Given the description of an element on the screen output the (x, y) to click on. 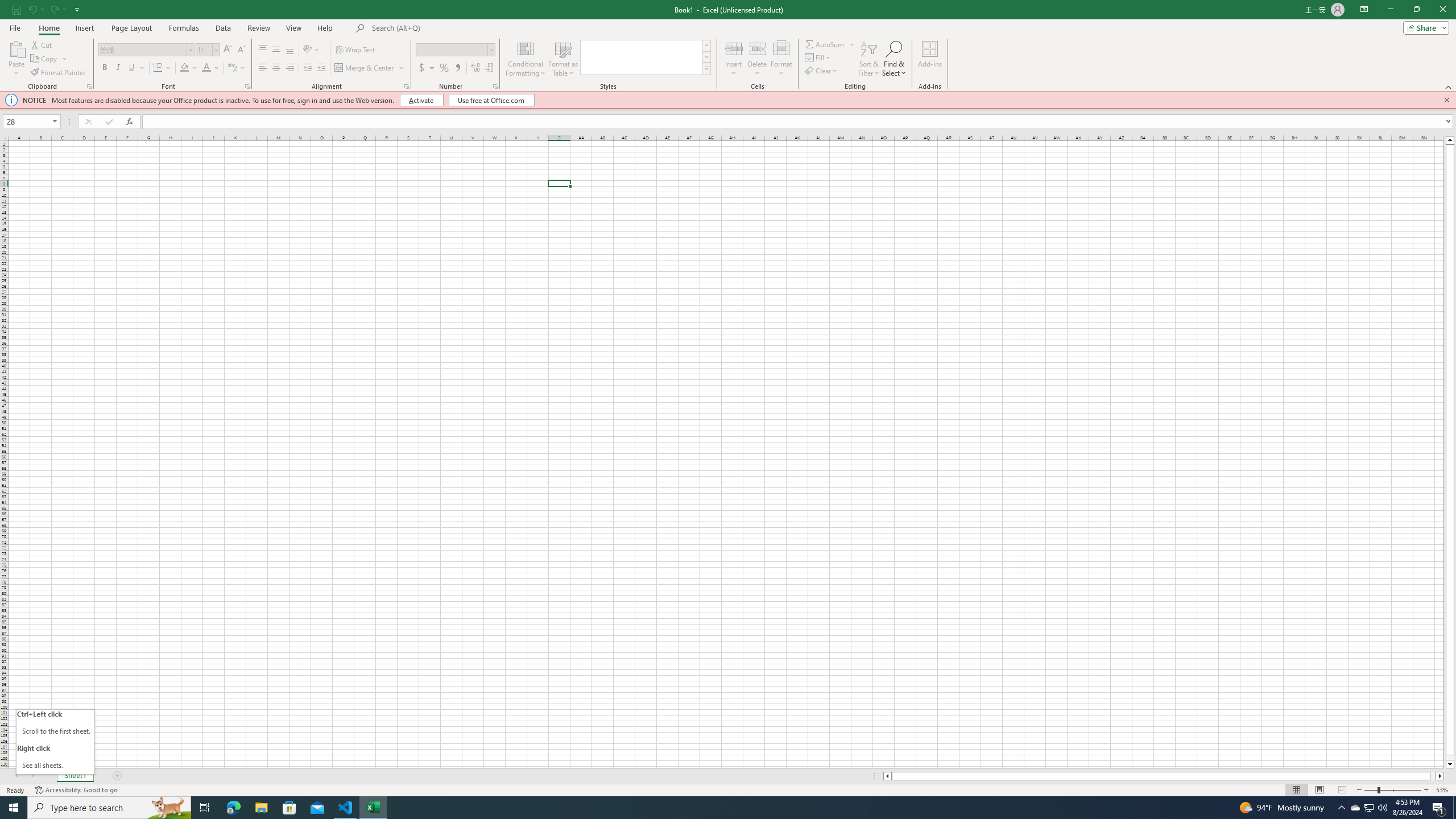
Clear (822, 69)
Undo (31, 9)
Page Break Preview (1342, 790)
Top Align (262, 49)
Formula Bar (798, 121)
Ribbon Display Options (1364, 9)
Page down (1449, 757)
Underline (131, 67)
Paste (16, 48)
Format Painter (58, 72)
Cut (42, 44)
Delete Cells... (757, 48)
Page Layout (131, 28)
Italic (118, 67)
Format Cell Number (494, 85)
